Given the description of an element on the screen output the (x, y) to click on. 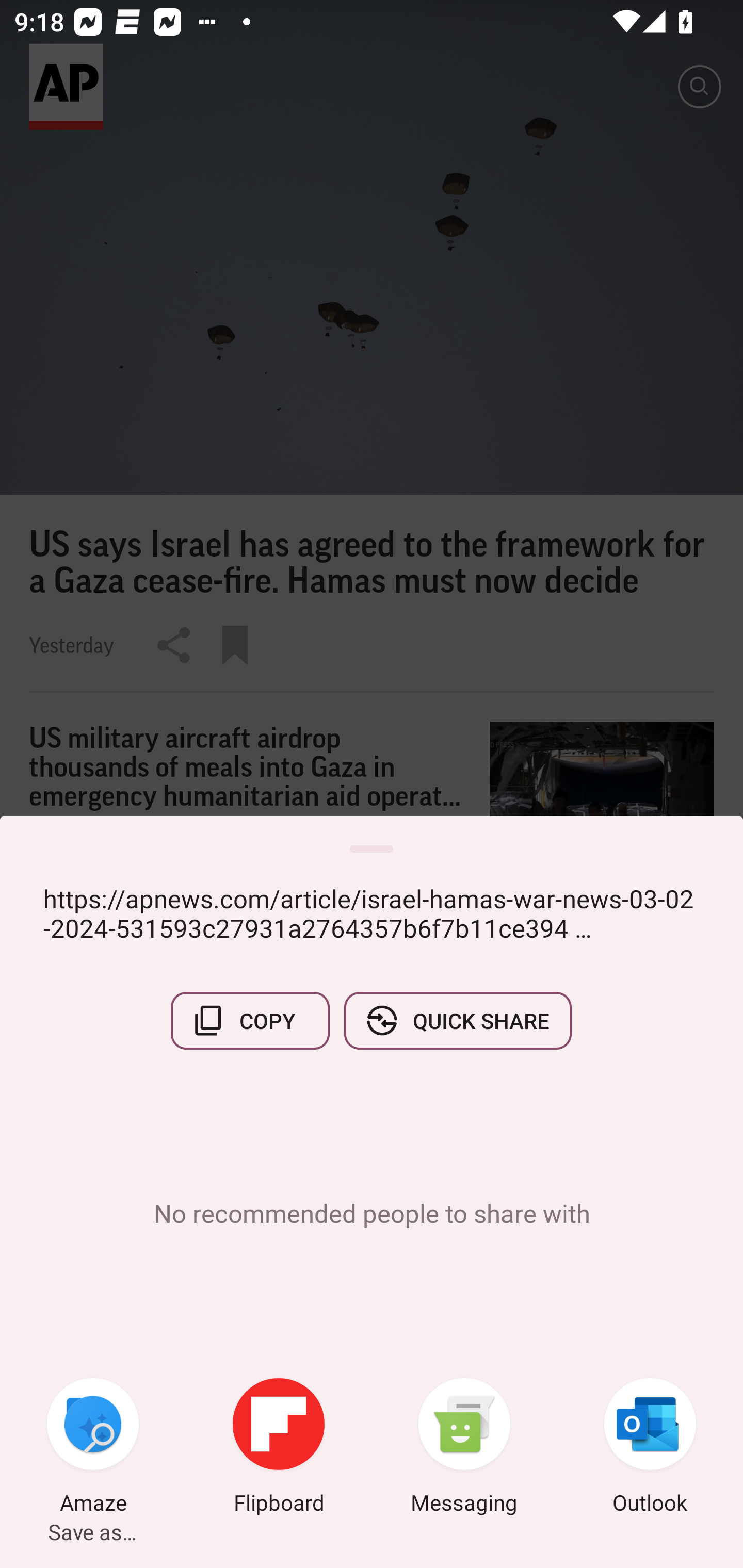
COPY (249, 1020)
QUICK SHARE (457, 1020)
Amaze Save as… (92, 1448)
Flipboard (278, 1448)
Messaging (464, 1448)
Outlook (650, 1448)
